Given the description of an element on the screen output the (x, y) to click on. 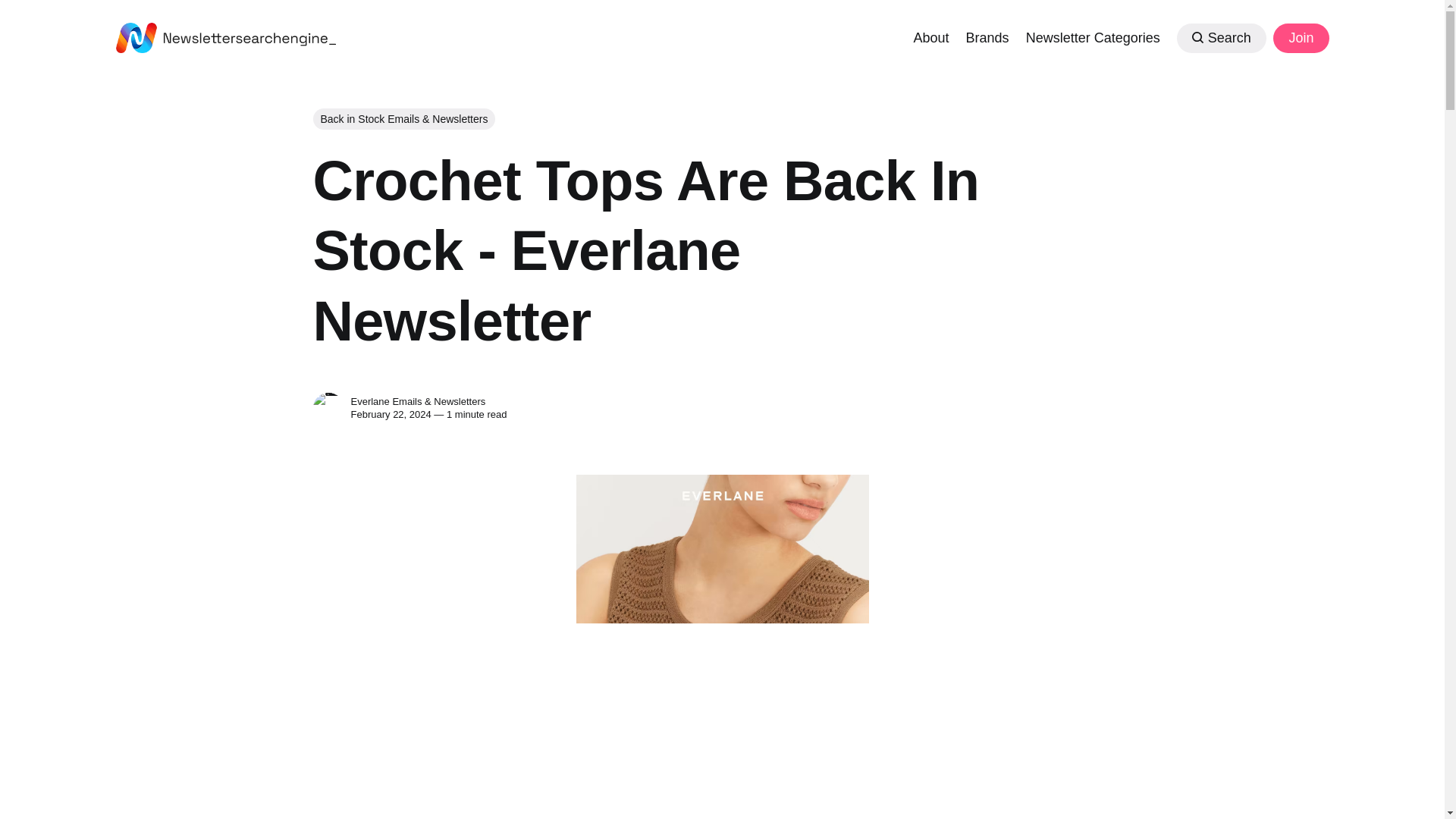
About (930, 37)
Newsletter Categories (1093, 37)
Join (1299, 37)
Brands (987, 37)
